Given the description of an element on the screen output the (x, y) to click on. 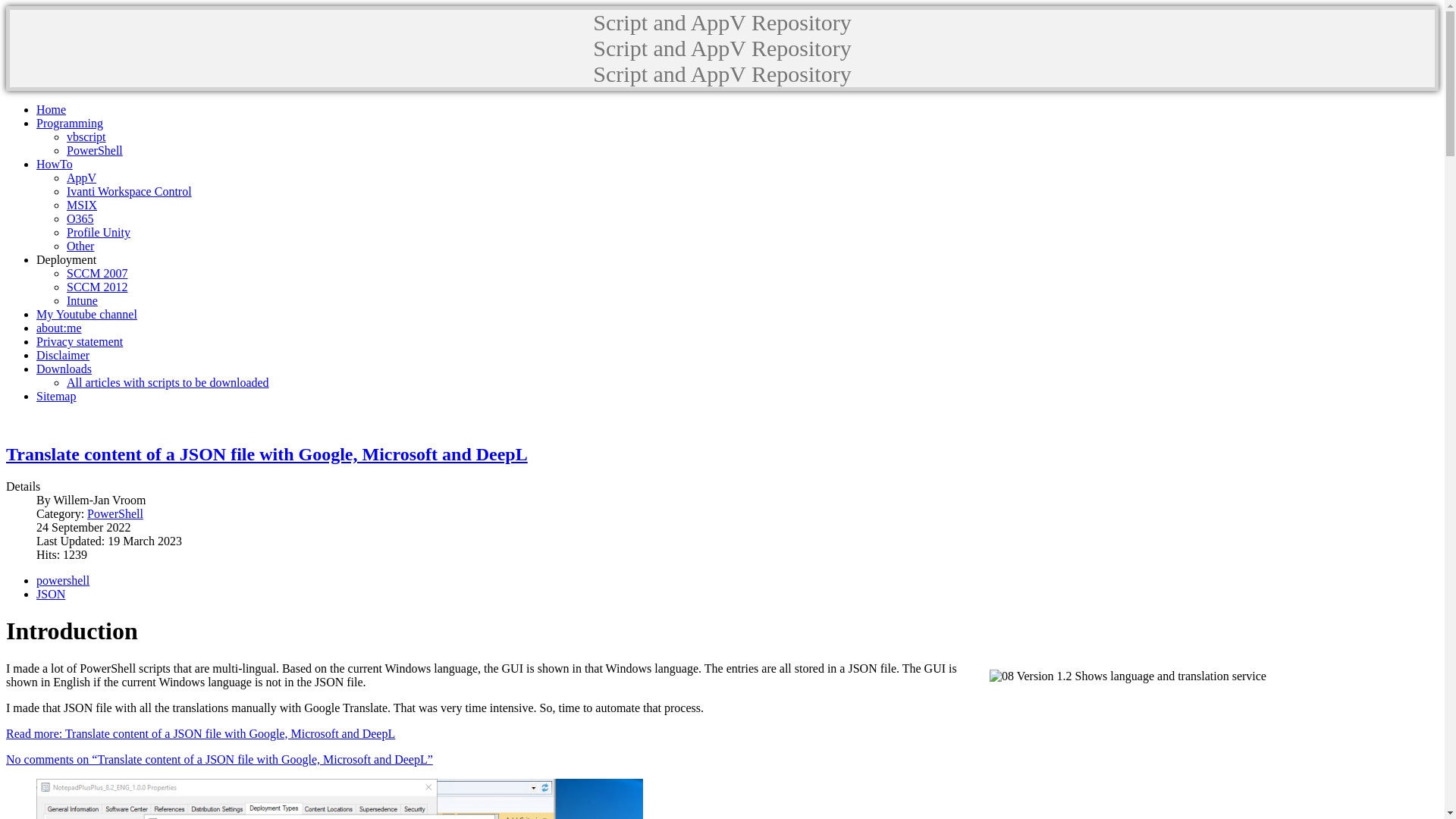
Disclaimer Element type: text (62, 354)
SCCM 2007 Element type: text (96, 272)
Programming Element type: text (69, 122)
All articles with scripts to be downloaded Element type: text (167, 382)
My Youtube channel Element type: text (86, 313)
about:me Element type: text (58, 327)
AppV Element type: text (81, 177)
PowerShell Element type: text (94, 150)
Other Element type: text (80, 245)
MSIX Element type: text (81, 204)
SCCM 2012 Element type: text (96, 286)
O365 Element type: text (80, 218)
Privacy statement Element type: text (79, 341)
Downloads Element type: text (63, 368)
Profile Unity Element type: text (98, 231)
vbscript Element type: text (86, 136)
Sitemap Element type: text (55, 395)
JSON Element type: text (50, 593)
powershell Element type: text (62, 580)
PowerShell Element type: text (115, 513)
HowTo Element type: text (54, 163)
Home Element type: text (50, 109)
Intune Element type: text (81, 300)
Ivanti Workspace Control Element type: text (128, 191)
